Given the description of an element on the screen output the (x, y) to click on. 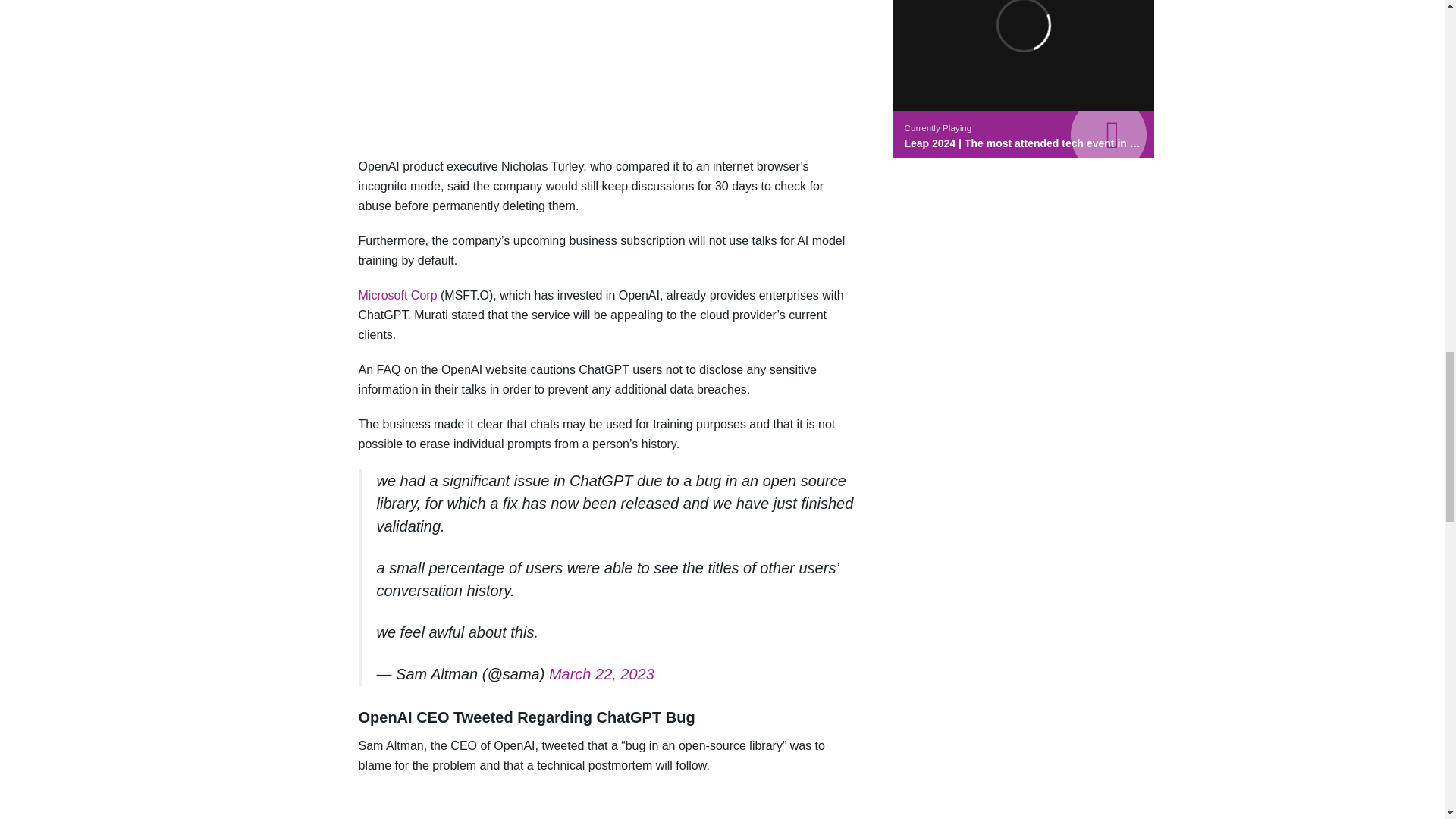
Sam Altman, the CEO of OpenAI - TechX Pakistan (608, 805)
